Given the description of an element on the screen output the (x, y) to click on. 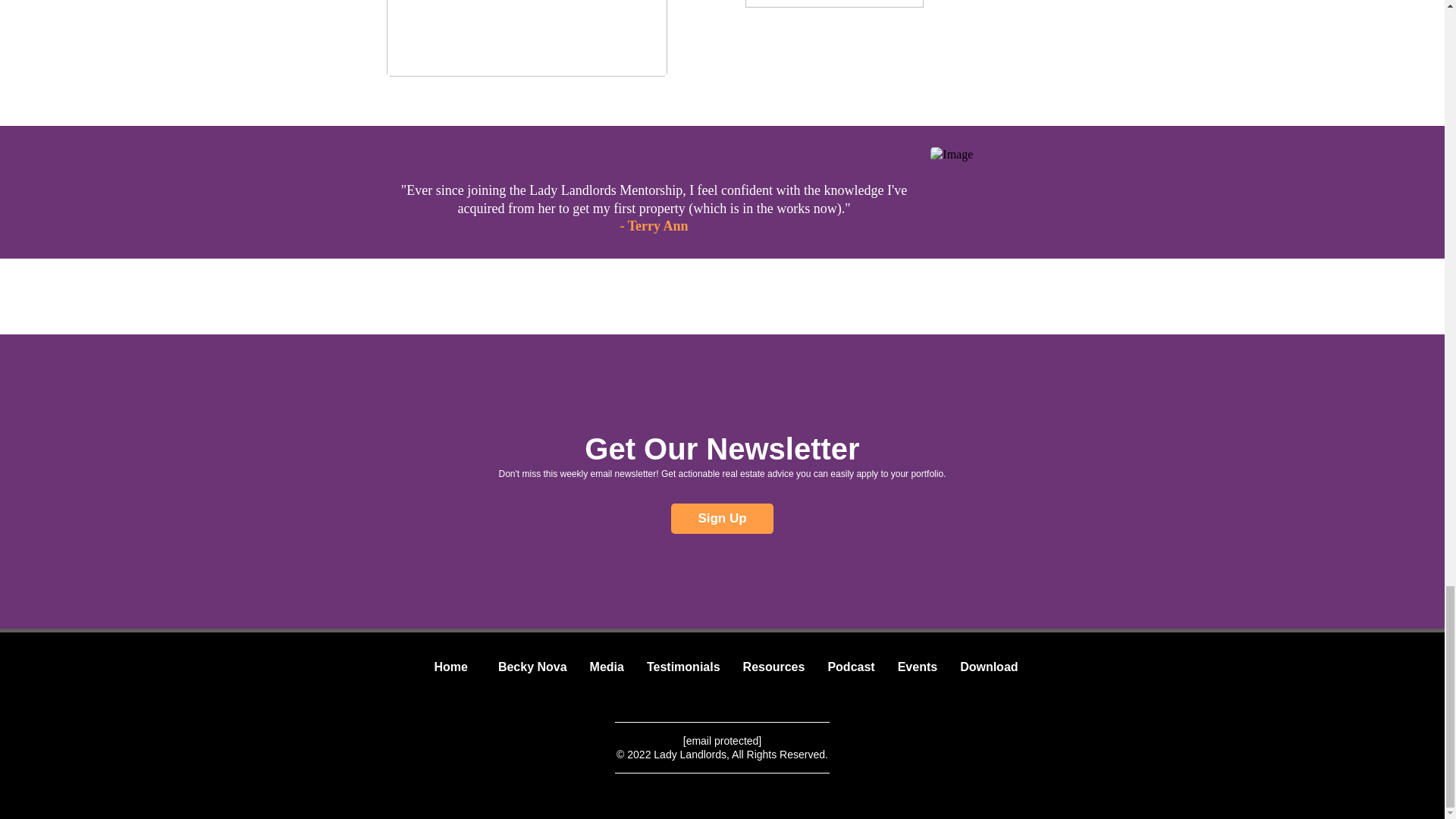
Sign Up (722, 518)
Home (450, 666)
Podcast (850, 666)
Resources (774, 666)
Becky Nova (532, 666)
Media (606, 666)
Testimonials (683, 666)
Events (917, 666)
Download (989, 666)
